Given the description of an element on the screen output the (x, y) to click on. 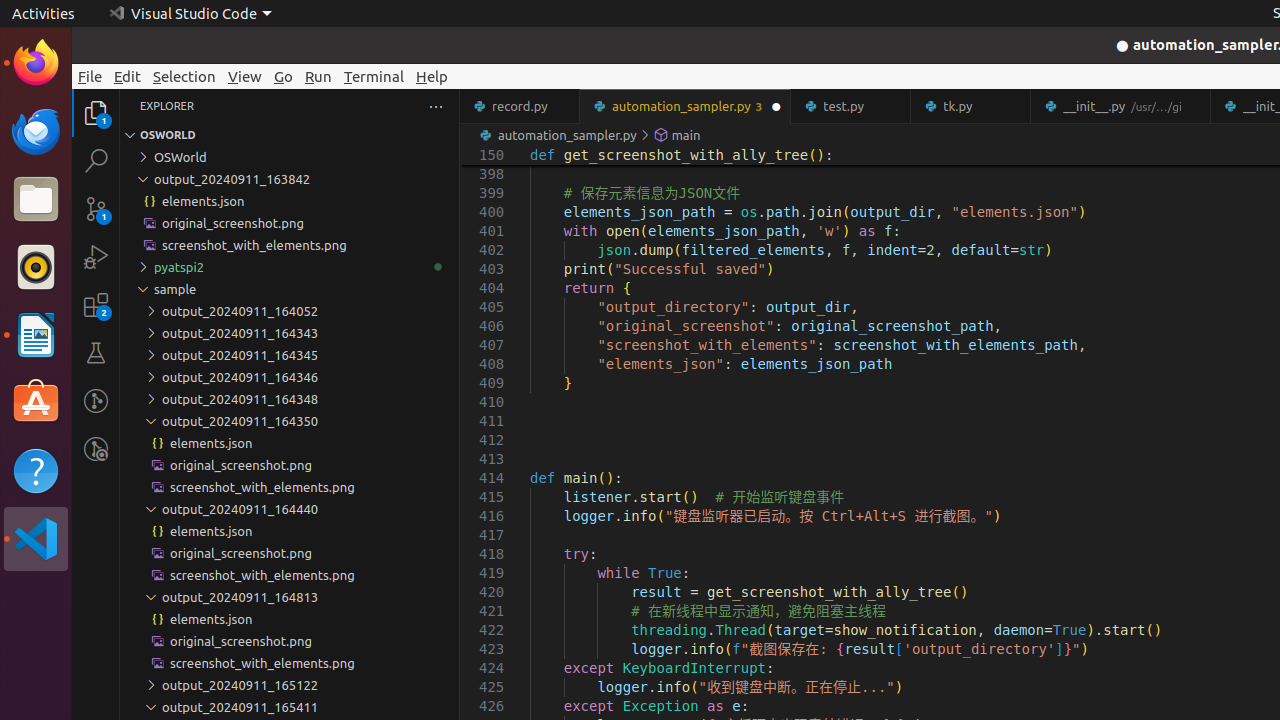
Firefox Web Browser Element type: push-button (36, 63)
Edit Element type: push-button (127, 76)
output_20240911_164345 Element type: tree-item (289, 355)
